Given the description of an element on the screen output the (x, y) to click on. 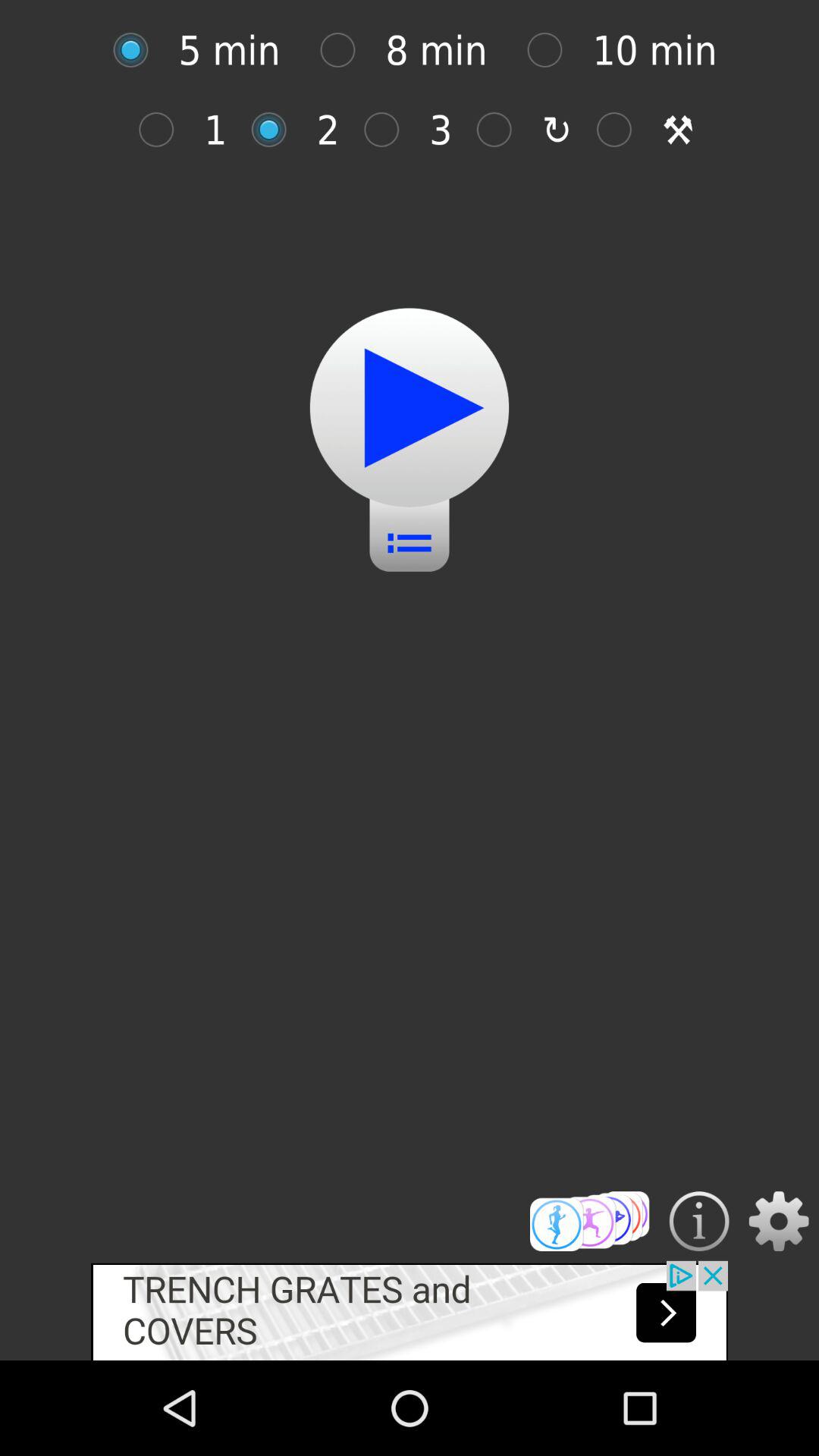
select 3 (389, 129)
